Given the description of an element on the screen output the (x, y) to click on. 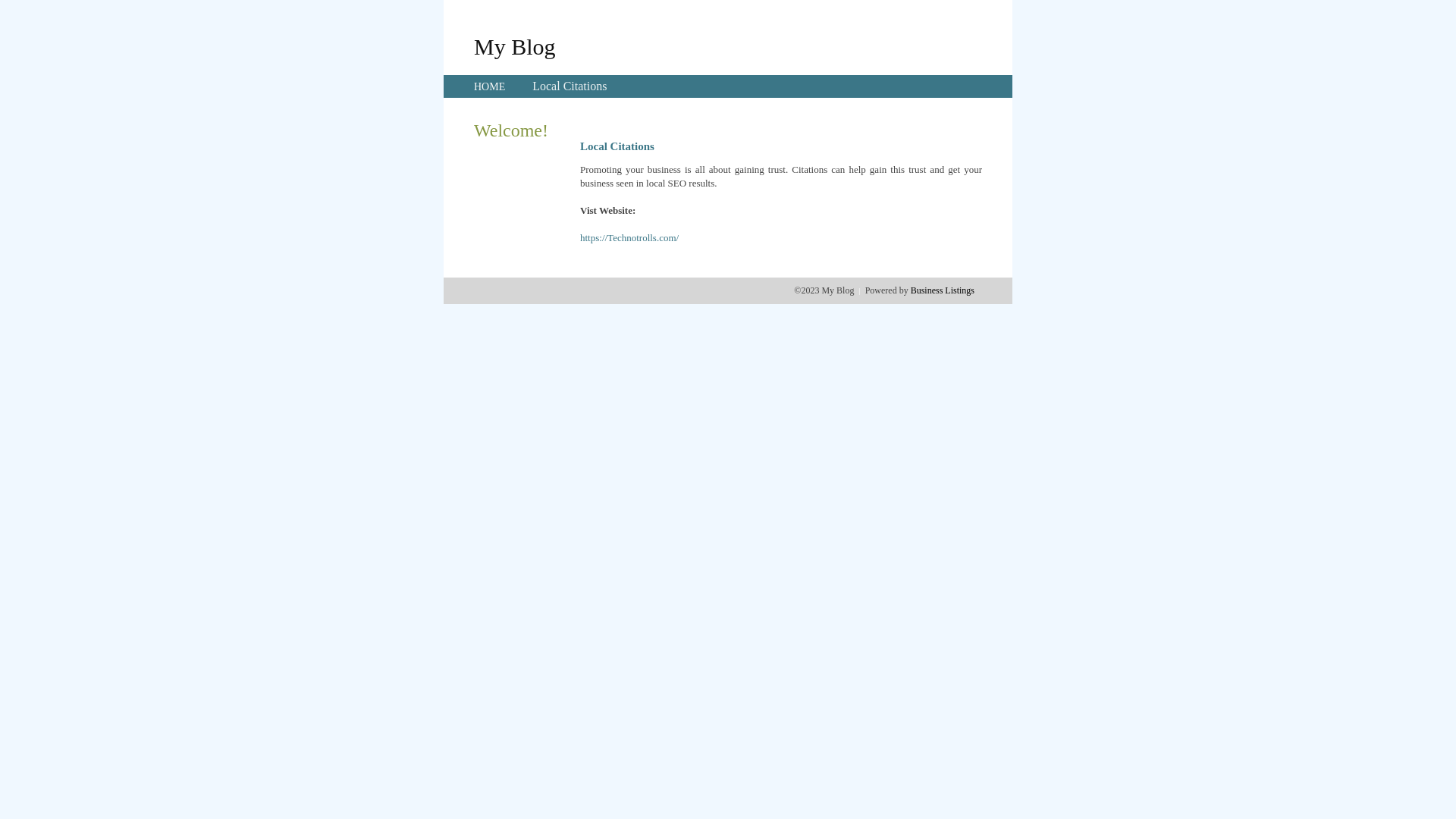
Local Citations Element type: text (569, 85)
Business Listings Element type: text (942, 290)
My Blog Element type: text (514, 46)
https://Technotrolls.com/ Element type: text (629, 237)
HOME Element type: text (489, 86)
